Given the description of an element on the screen output the (x, y) to click on. 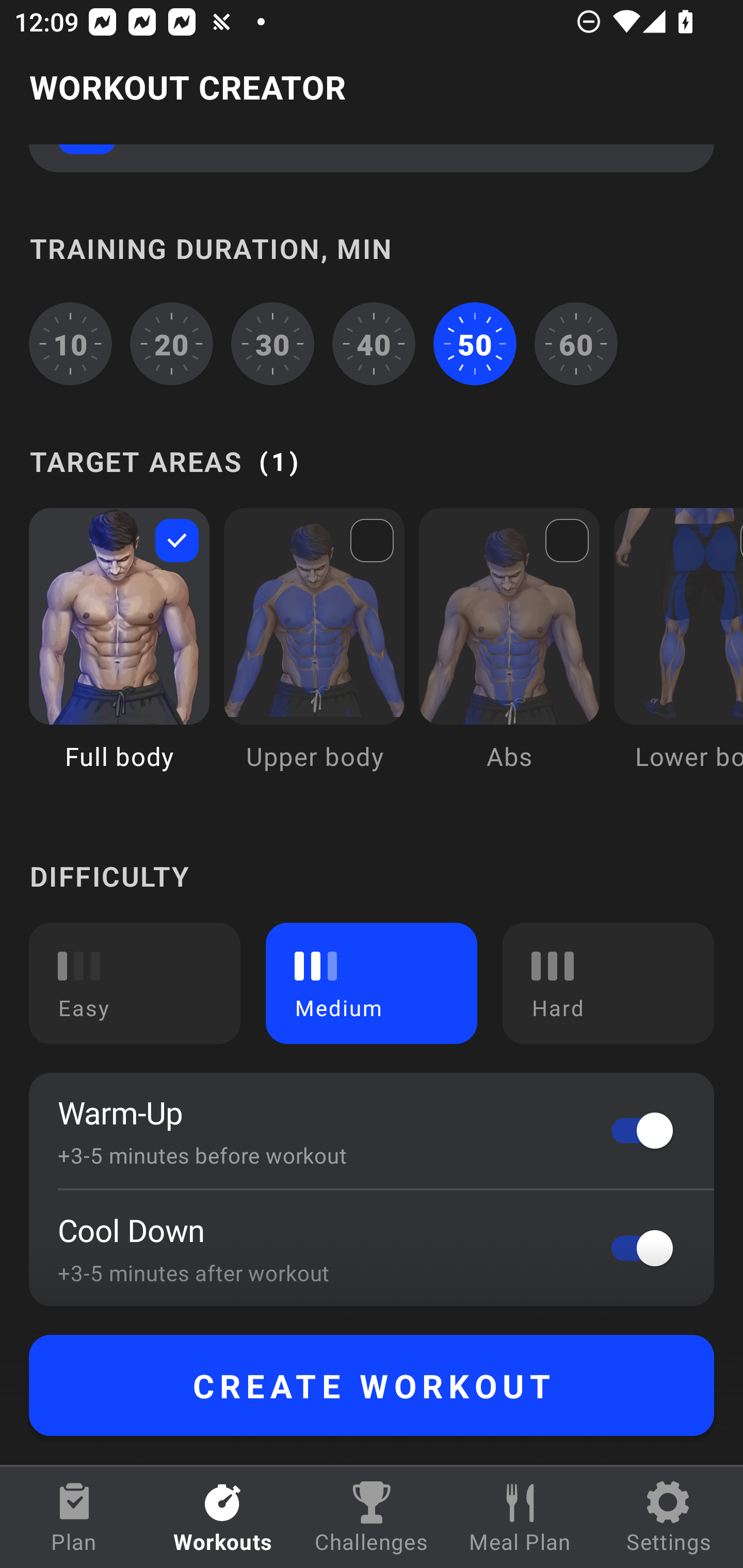
10 (70, 344)
20 (171, 344)
30 (272, 344)
40 (373, 344)
50 (474, 344)
60 (575, 344)
Upper body (313, 653)
Abs (509, 653)
Lower body (678, 653)
Easy (134, 982)
Hard (608, 982)
CREATE WORKOUT (371, 1385)
 Plan  (74, 1517)
 Challenges  (371, 1517)
 Meal Plan  (519, 1517)
 Settings  (668, 1517)
